Given the description of an element on the screen output the (x, y) to click on. 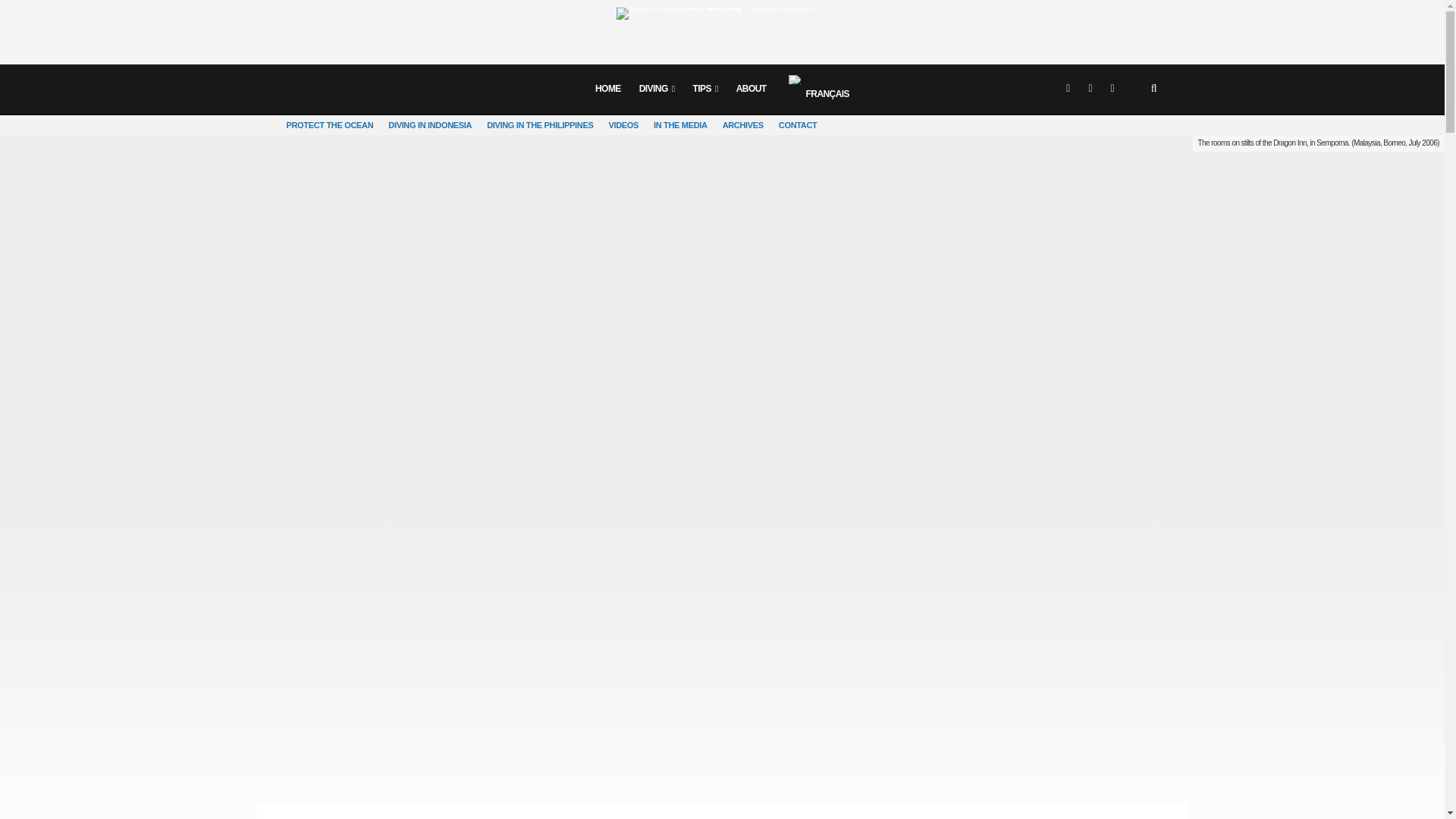
DIVING IN INDONESIA (429, 125)
ABOUT (751, 88)
ARCHIVES (742, 125)
IN THE MEDIA (680, 125)
Diving (657, 88)
Home (608, 88)
HOME (608, 88)
DIVING IN THE PHILIPPINES (539, 125)
PROTECT THE OCEAN (330, 125)
DIVING (657, 88)
